Given the description of an element on the screen output the (x, y) to click on. 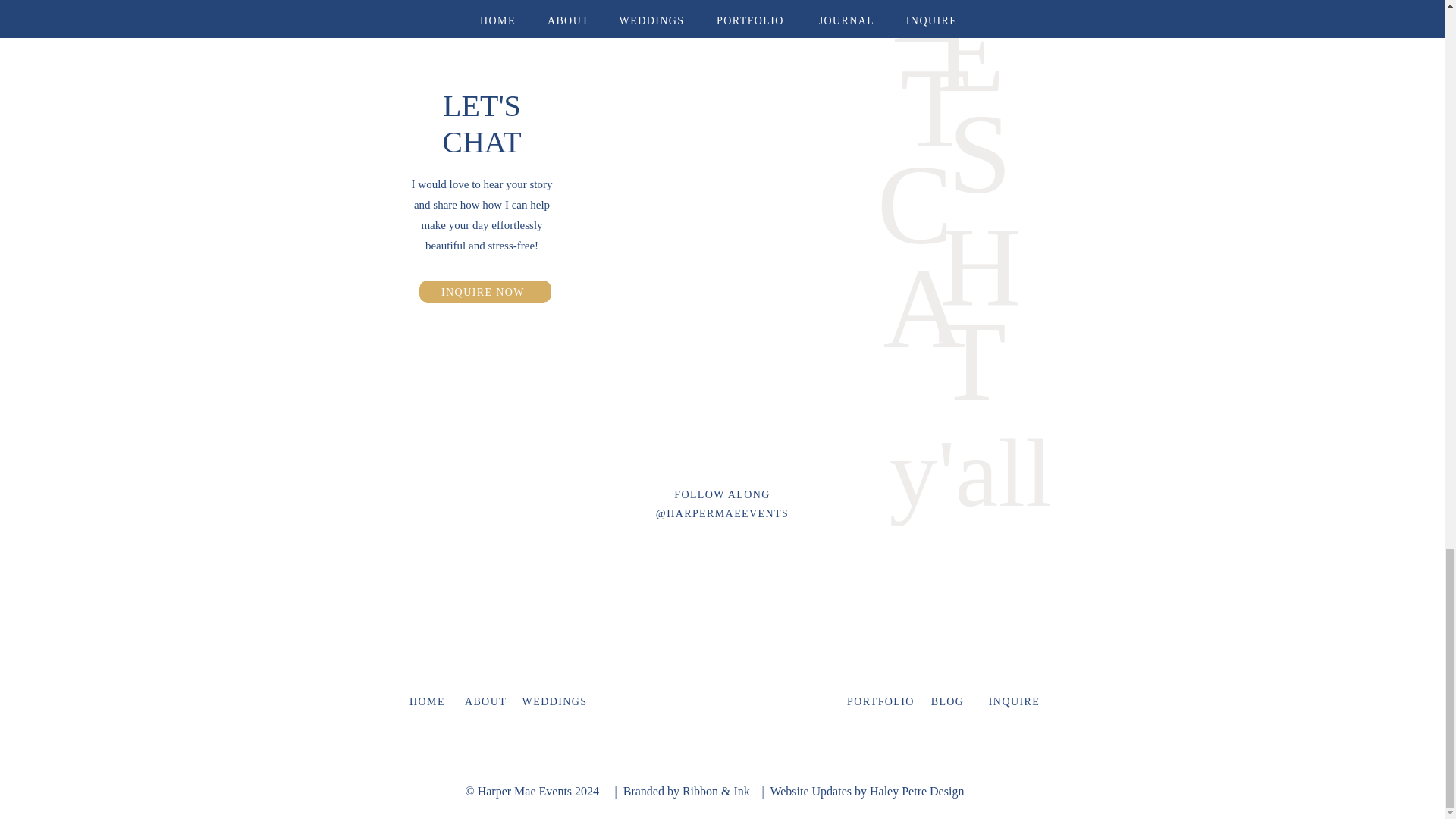
HOME (426, 699)
ABOUT (485, 699)
INQUIRE (1014, 699)
INQUIRE NOW (483, 292)
PORTFOLIO (880, 699)
BLOG (947, 699)
WEDDINGS (554, 699)
